Given the description of an element on the screen output the (x, y) to click on. 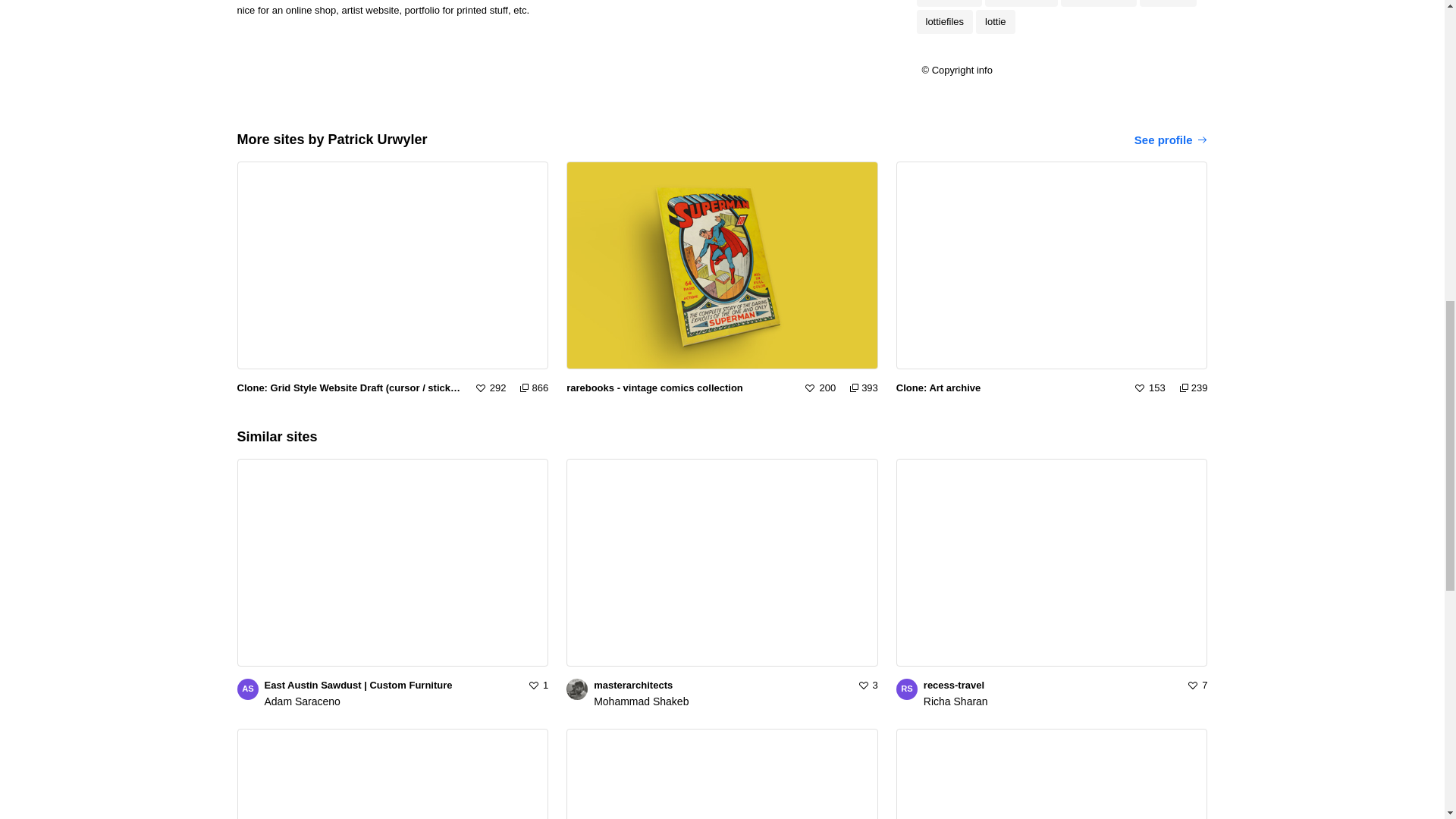
comicbook (948, 3)
rarebooks - vintage comics collection (679, 387)
printedmatter (1099, 3)
Clone: Art archive (1008, 387)
lottie (994, 21)
artistwebsite (1021, 3)
See profile (1171, 140)
onepage (1168, 3)
lottiefiles (943, 21)
